Given the description of an element on the screen output the (x, y) to click on. 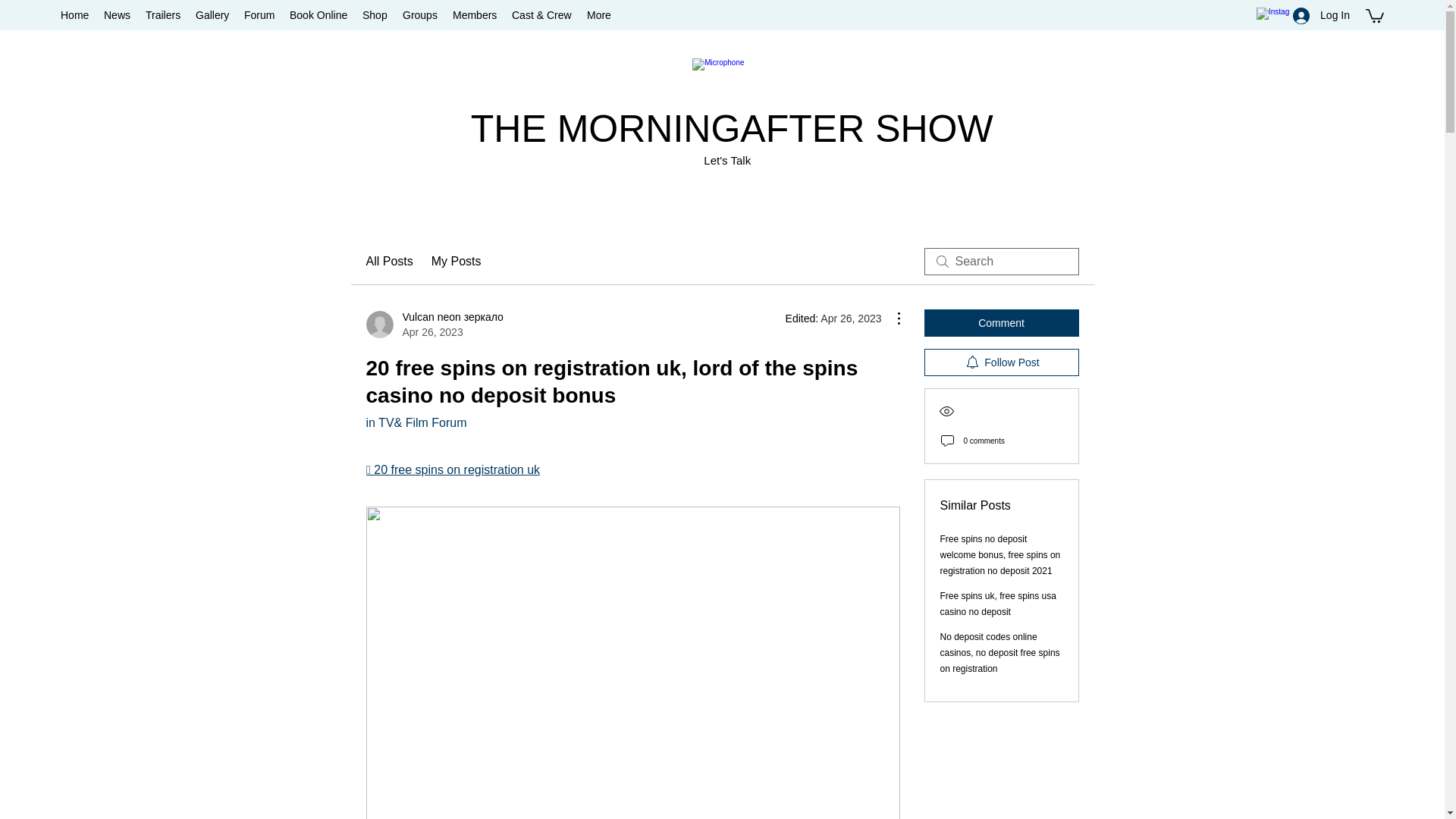
Trailers (162, 15)
All Posts (388, 261)
News (117, 15)
Log In (1320, 15)
Home (74, 15)
Follow Post (1000, 361)
Comment (1000, 322)
Groups (419, 15)
